Given the description of an element on the screen output the (x, y) to click on. 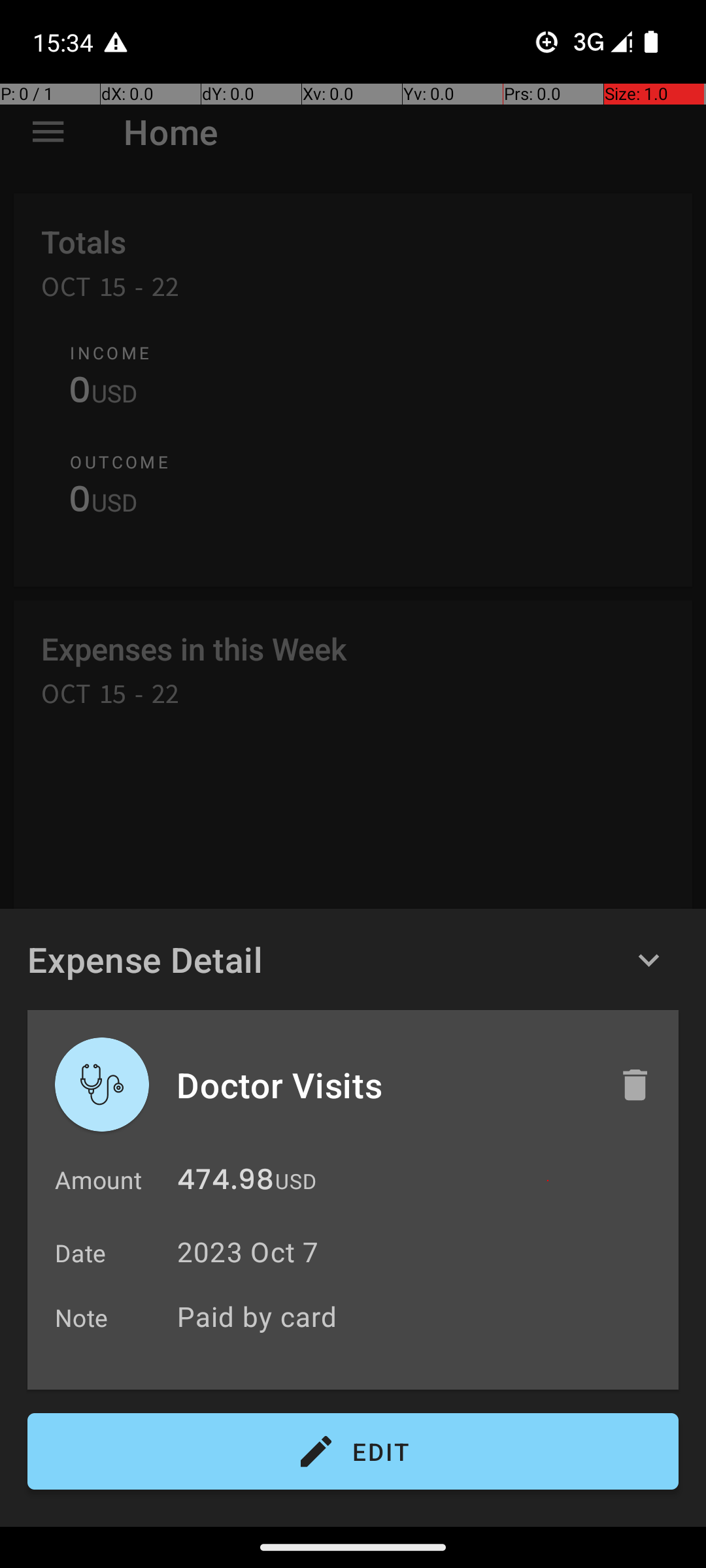
Doctor Visits Element type: android.widget.TextView (383, 1084)
474.98 Element type: android.widget.TextView (225, 1182)
2023 Oct 7 Element type: android.widget.TextView (247, 1251)
Paid by card Element type: android.widget.TextView (420, 1315)
